Given the description of an element on the screen output the (x, y) to click on. 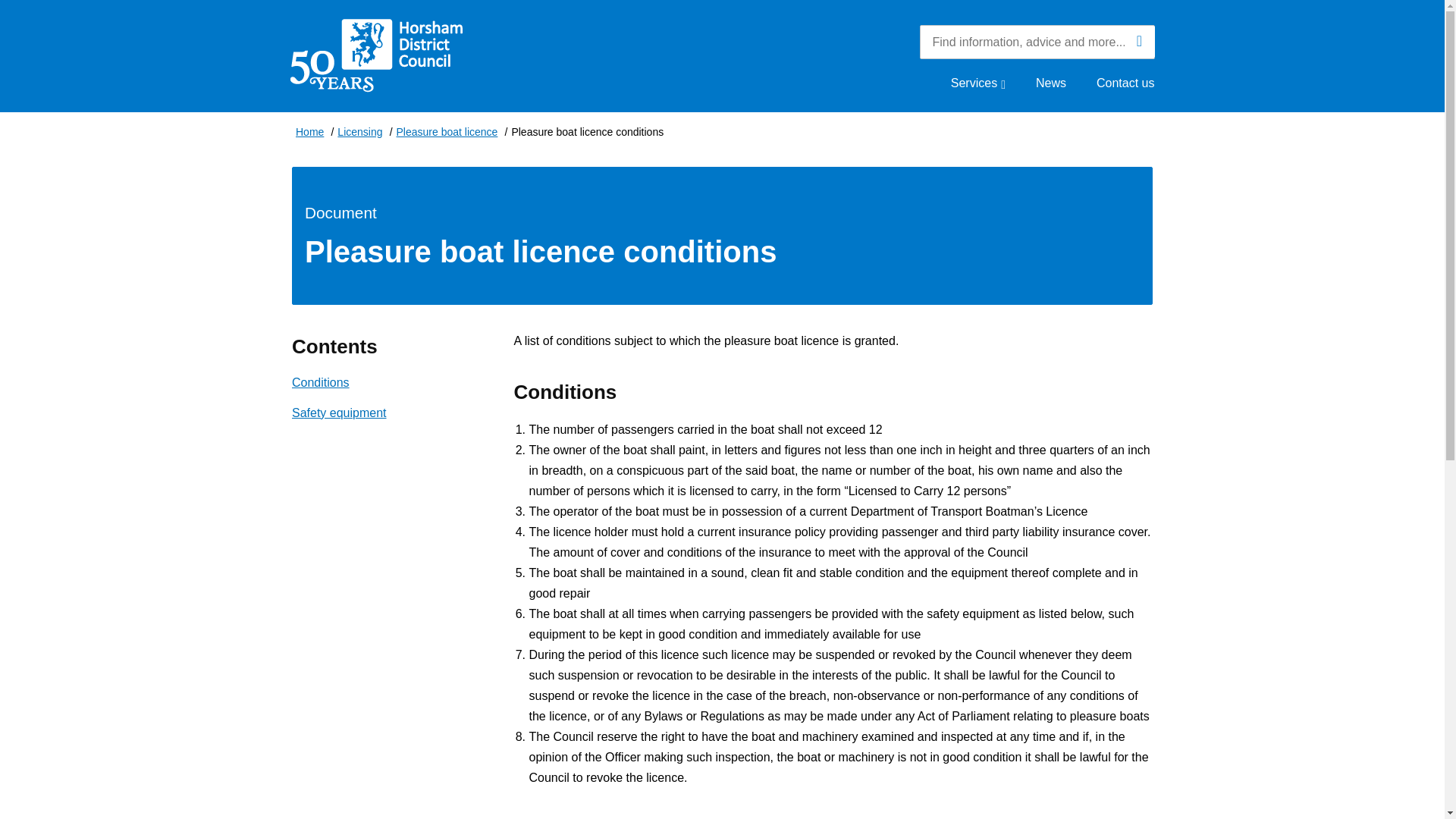
Contact us (1125, 82)
SEARCH (1139, 41)
News (1050, 82)
Licensing (359, 133)
Home (309, 133)
Pleasure boat licence (446, 133)
Conditions (320, 382)
Services (978, 82)
Safety equipment (339, 412)
